Given the description of an element on the screen output the (x, y) to click on. 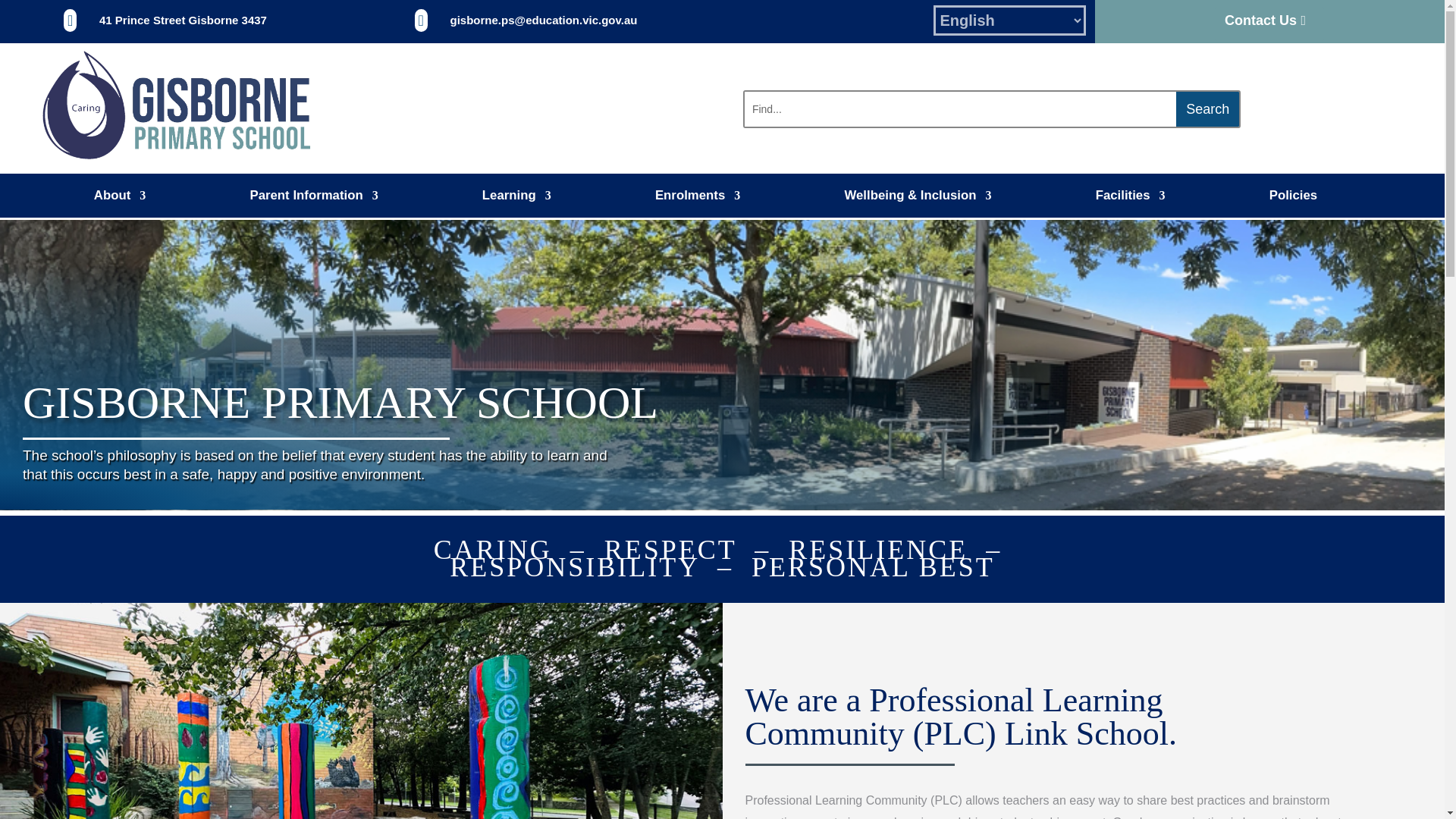
Search (1207, 109)
Contact Us (1268, 23)
Search (1207, 109)
Enrolments (697, 198)
Policies (1293, 198)
Parent Information (312, 198)
About (119, 198)
Learning (516, 198)
Untitled-1-Recovered-Recovered (176, 106)
Facilities (1131, 198)
Search (1207, 109)
